Given the description of an element on the screen output the (x, y) to click on. 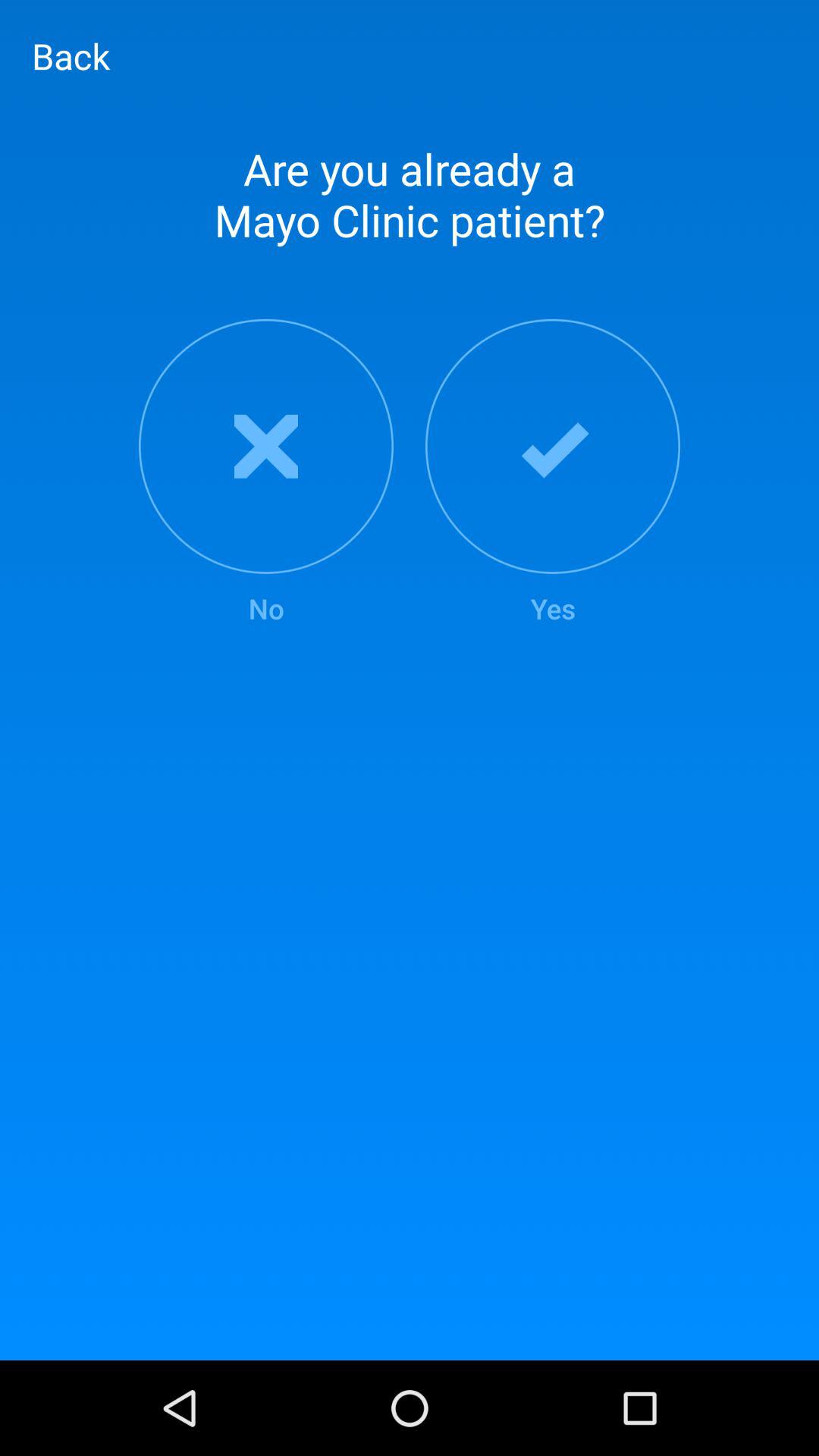
click the icon above are you already icon (70, 55)
